Given the description of an element on the screen output the (x, y) to click on. 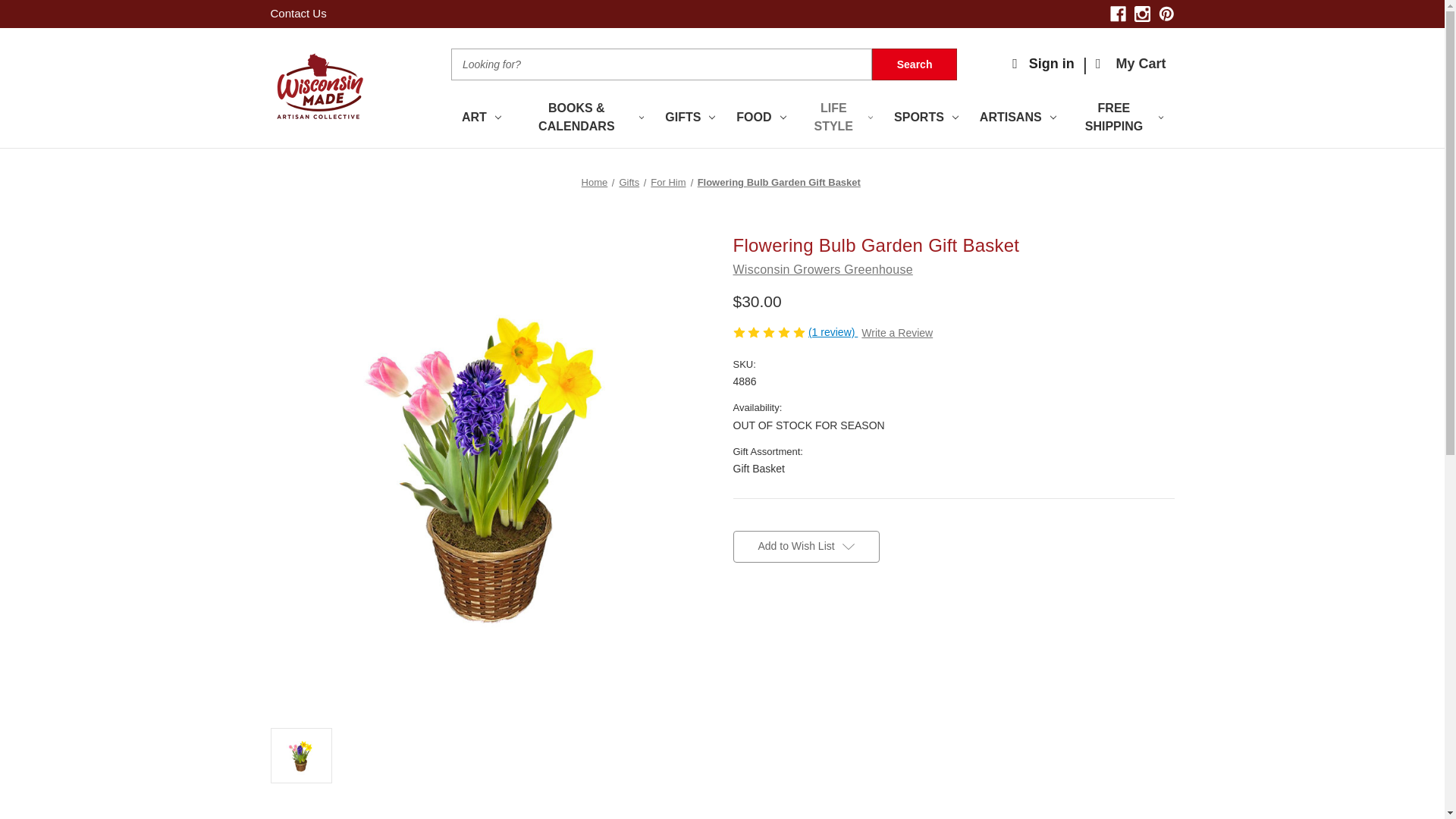
Flowering Bulb Garden Gift Basket (301, 755)
Sign in (1043, 64)
Facebook (740, 622)
Pinterest (1166, 13)
Pinterest (819, 622)
Facebook (1117, 13)
Search (915, 64)
ART (481, 118)
Contact Us (297, 12)
GIFTS (689, 118)
WisconsinMade Artisan Collective (318, 87)
Instagram (1142, 13)
Print (793, 622)
FOOD (760, 118)
